Given the description of an element on the screen output the (x, y) to click on. 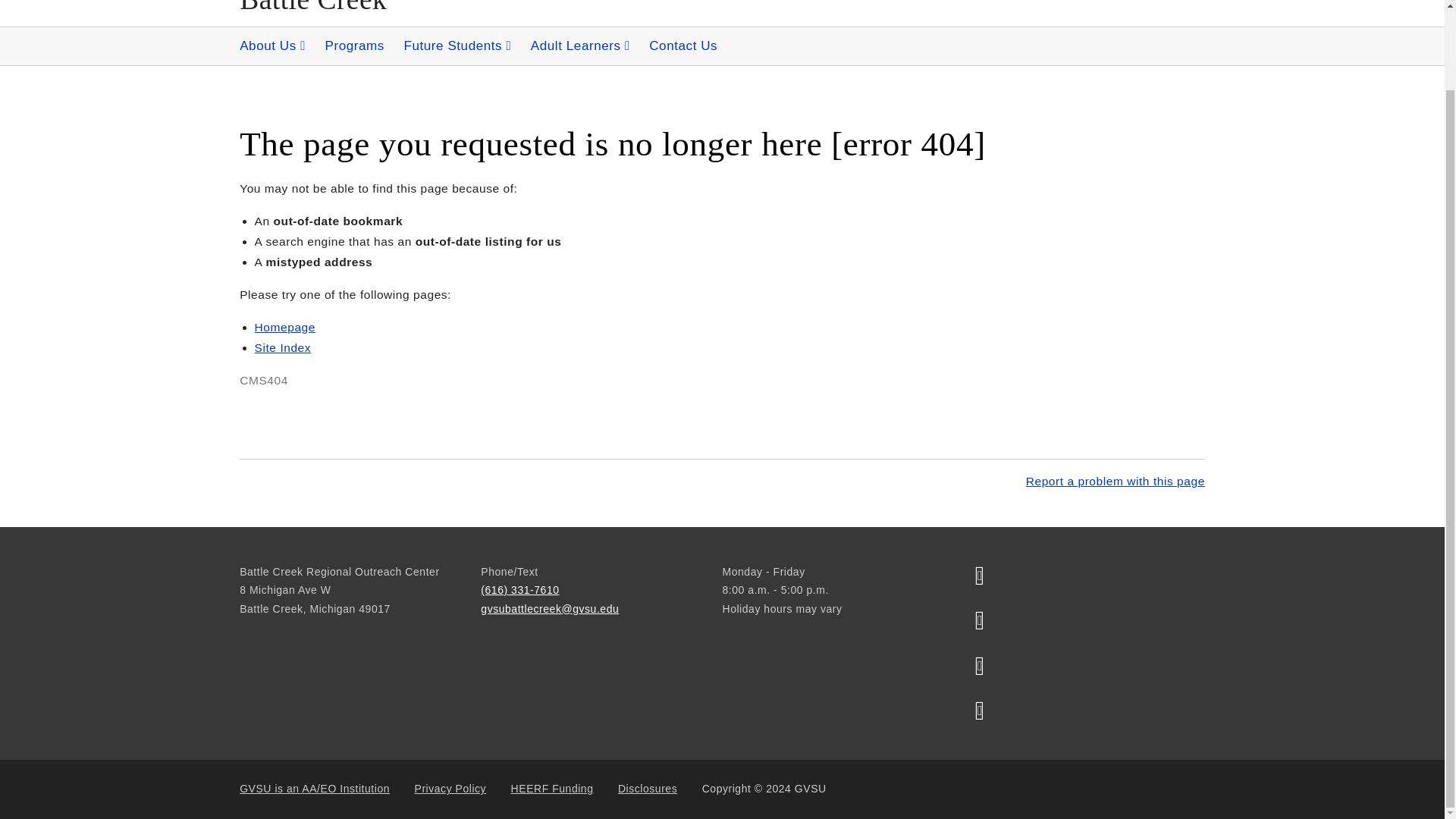
Site Index (282, 347)
Battle Creek (313, 7)
Programs (354, 46)
About Us (272, 46)
GVSU Site Index (282, 347)
Homepage (284, 327)
Report a problem with this page (1115, 481)
Adult Learners (579, 46)
Contact Us (683, 46)
Future Students (457, 46)
GVSU Homepage (284, 327)
